Given the description of an element on the screen output the (x, y) to click on. 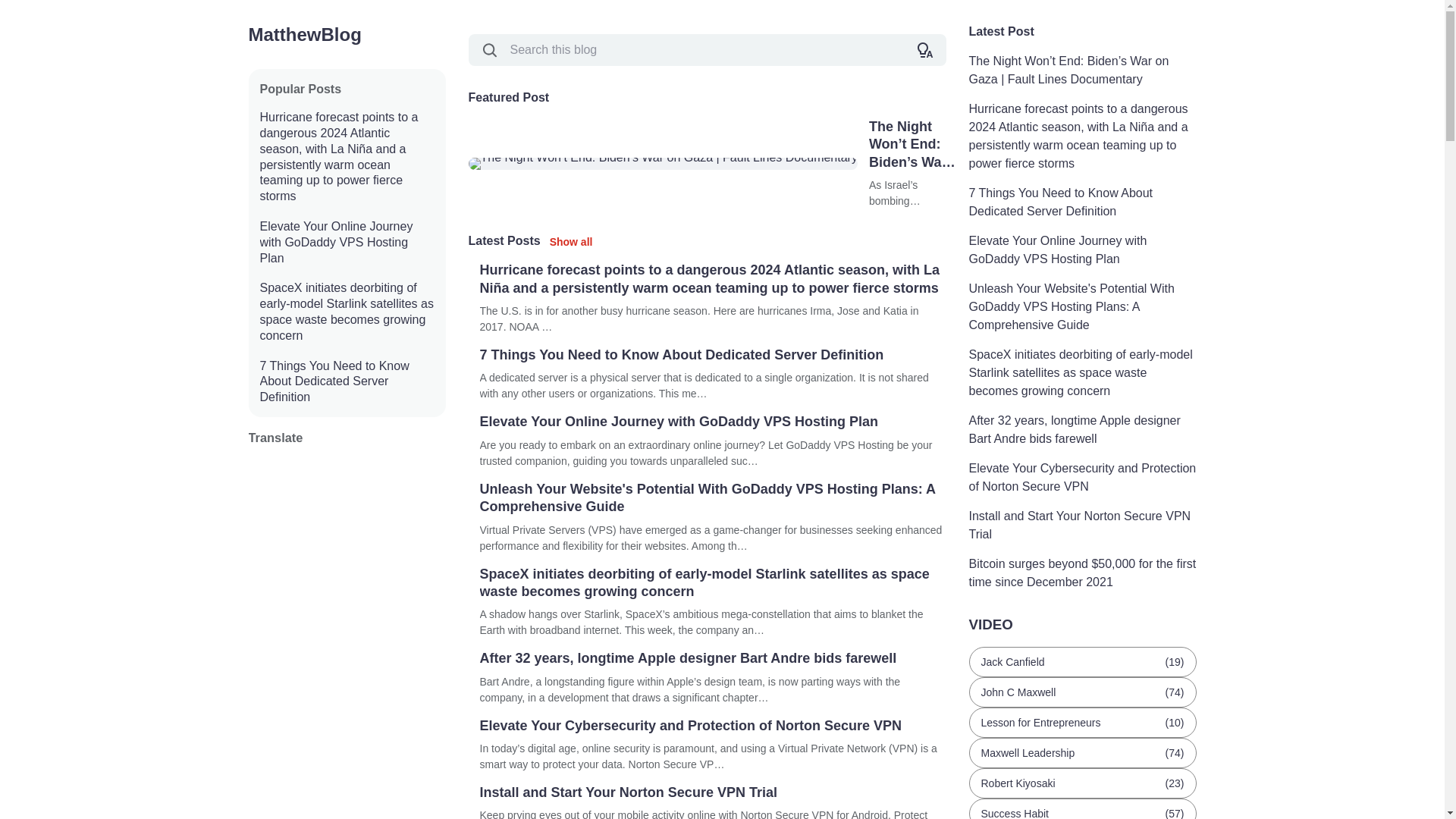
7 Things You Need to Know About Dedicated Server Definition (711, 354)
Elevate Your Online Journey with GoDaddy VPS Hosting Plan (346, 242)
MatthewBlog (304, 33)
Show all (571, 242)
Elevate Your Online Journey with GoDaddy VPS Hosting Plan (711, 421)
Elevate Your Online Journey with GoDaddy VPS Hosting Plan (1082, 249)
7 Things You Need to Know About Dedicated Server Definition (1082, 202)
Appearance (924, 49)
Install and Start Your Norton Secure VPN Trial (1082, 524)
7 Things You Need to Know About Dedicated Server Definition (346, 381)
